Given the description of an element on the screen output the (x, y) to click on. 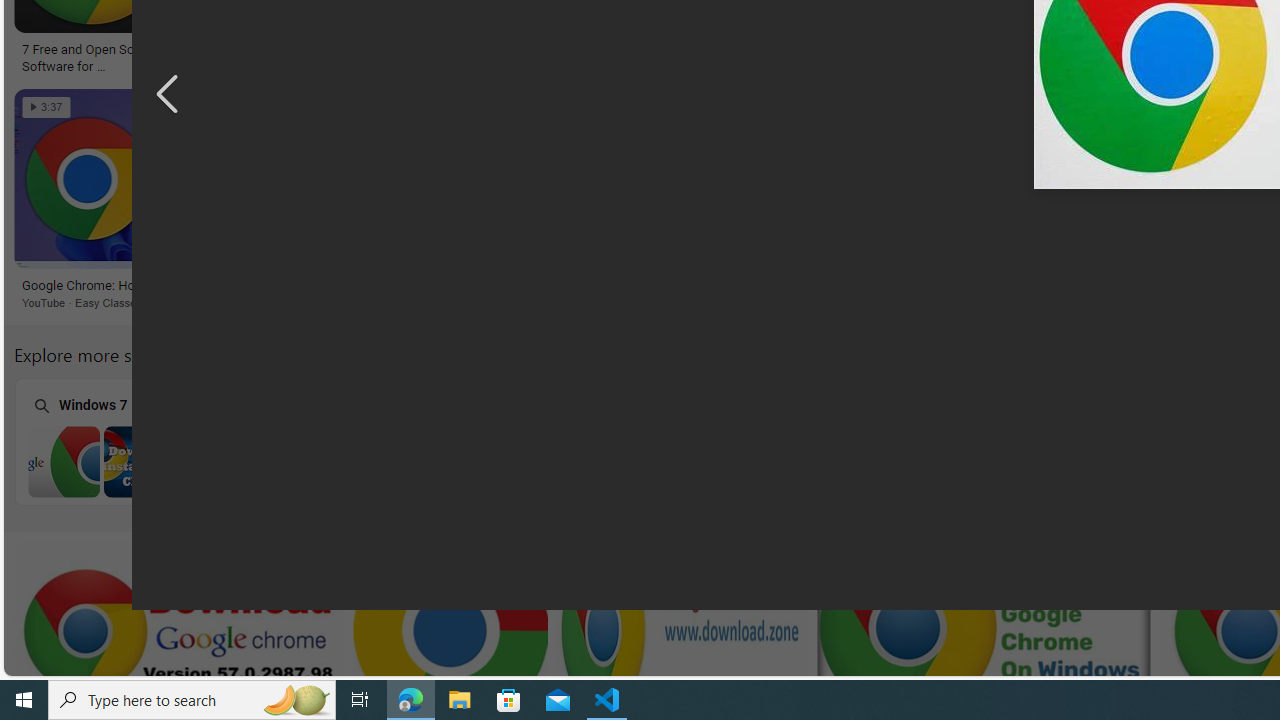
Download internet explorer 9.0 free - snorobot (800, 286)
Chrome Browser Download Windows 7 Windows 7 (139, 441)
Image result for Google Chrome Internet Browser Download (817, 179)
3:37 (45, 107)
Chrome Browser Download Apk for PC Windows 10 (1164, 461)
Chrome Browser Download Windows 10 64-Bit Windows 10 64-Bit (651, 441)
Download internet explorer 9.0 free - snorobotSave (821, 202)
Windows 10 (907, 440)
Chrome Browser Download Windows 10 64-Bit (652, 461)
Download Google Chrome As My Web Browser (479, 286)
Internet Explorer (395, 440)
How to download google chrome apps - snoml (852, 56)
Chrome Browser Download Windows 7 (140, 461)
